Given the description of an element on the screen output the (x, y) to click on. 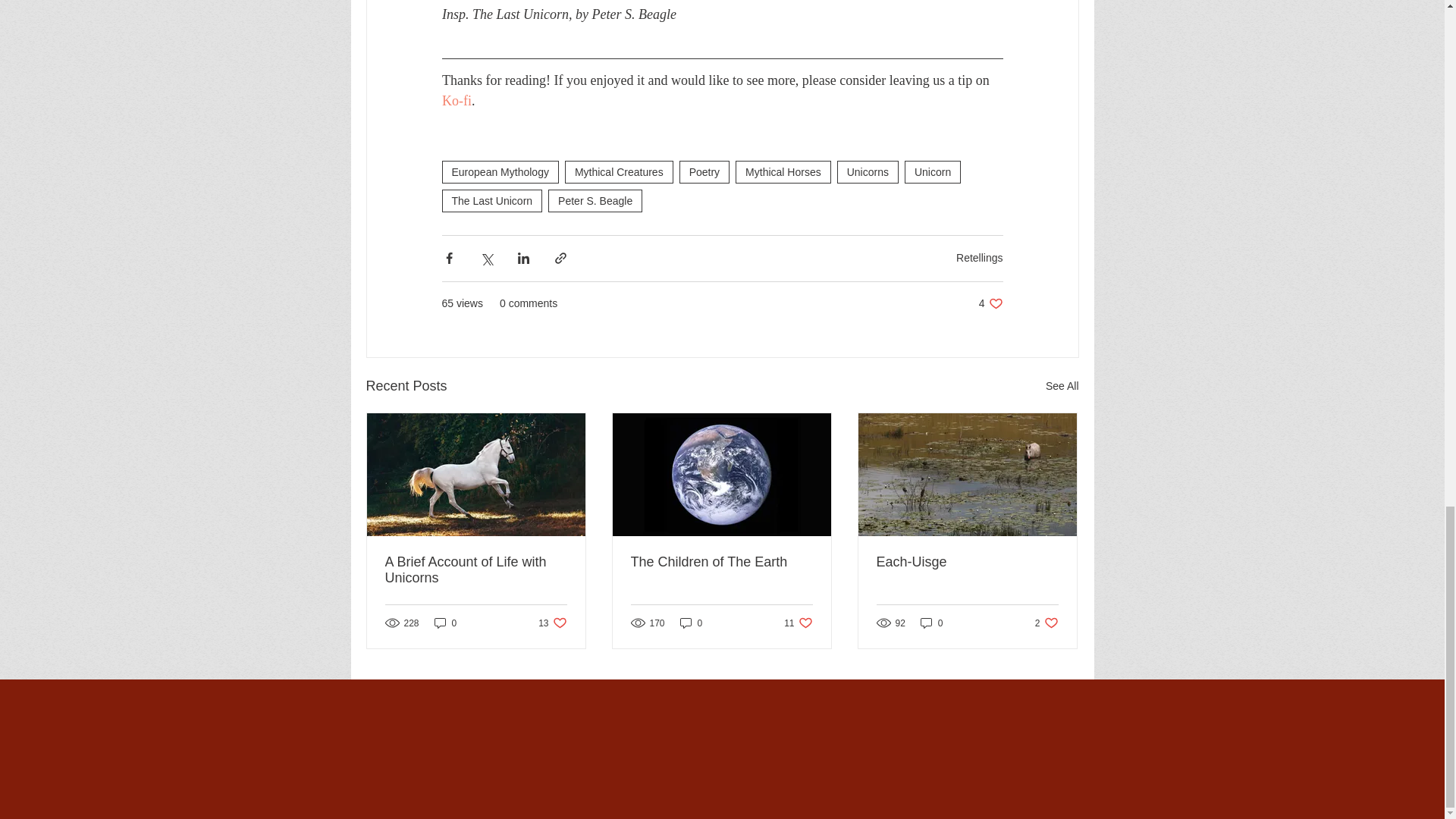
Retellings (979, 257)
A Brief Account of Life with Unicorns (476, 570)
0 (1046, 622)
Unicorn (931, 622)
0 (932, 171)
Poetry (445, 622)
See All (552, 622)
Peter S. Beagle (704, 171)
European Mythology (798, 622)
Ko-fi (1061, 386)
The Last Unicorn (595, 200)
Unicorns (499, 171)
